Given the description of an element on the screen output the (x, y) to click on. 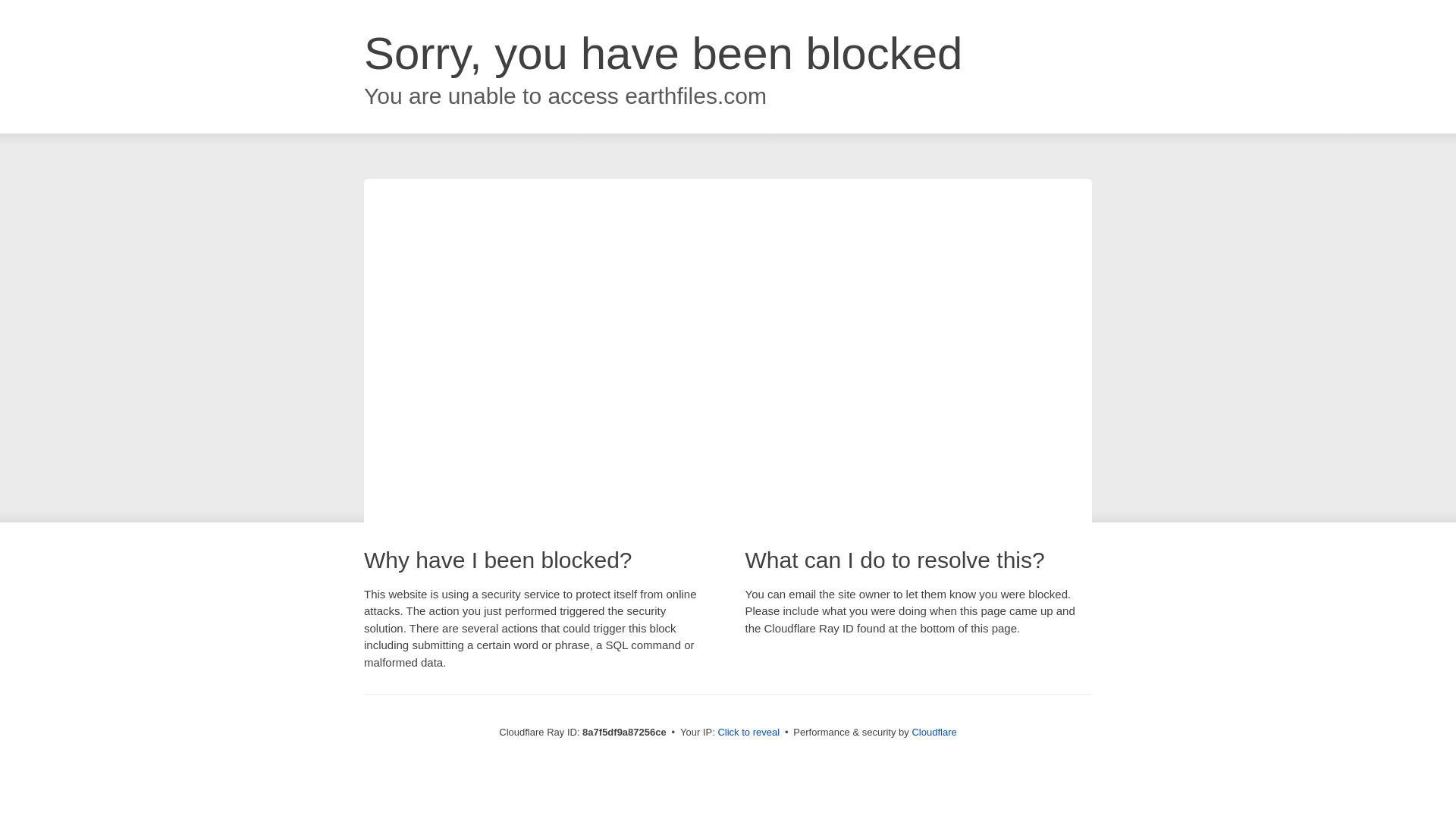
Click to reveal (747, 732)
Cloudflare (933, 731)
